Given the description of an element on the screen output the (x, y) to click on. 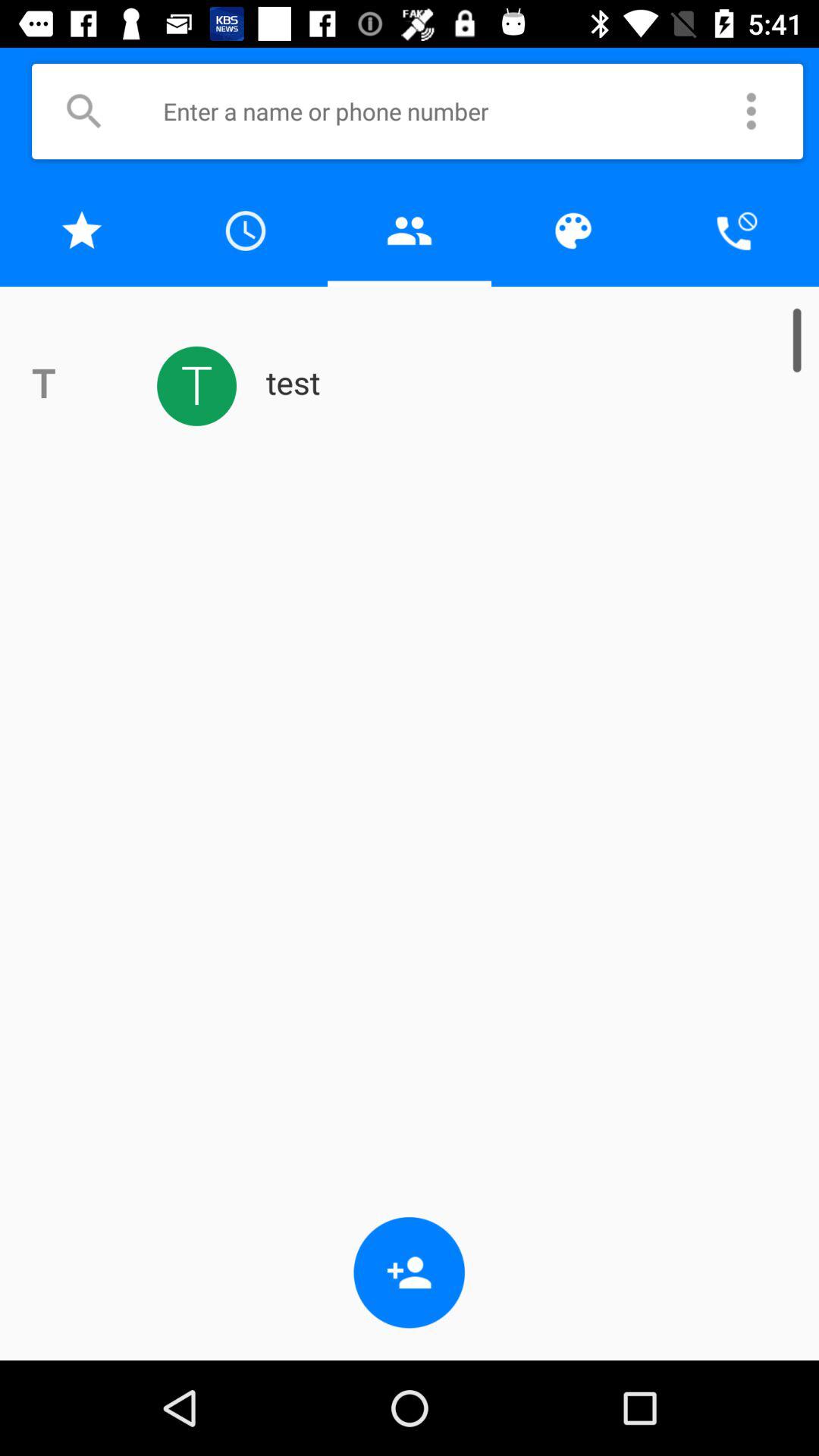
open important contacts (81, 230)
